Given the description of an element on the screen output the (x, y) to click on. 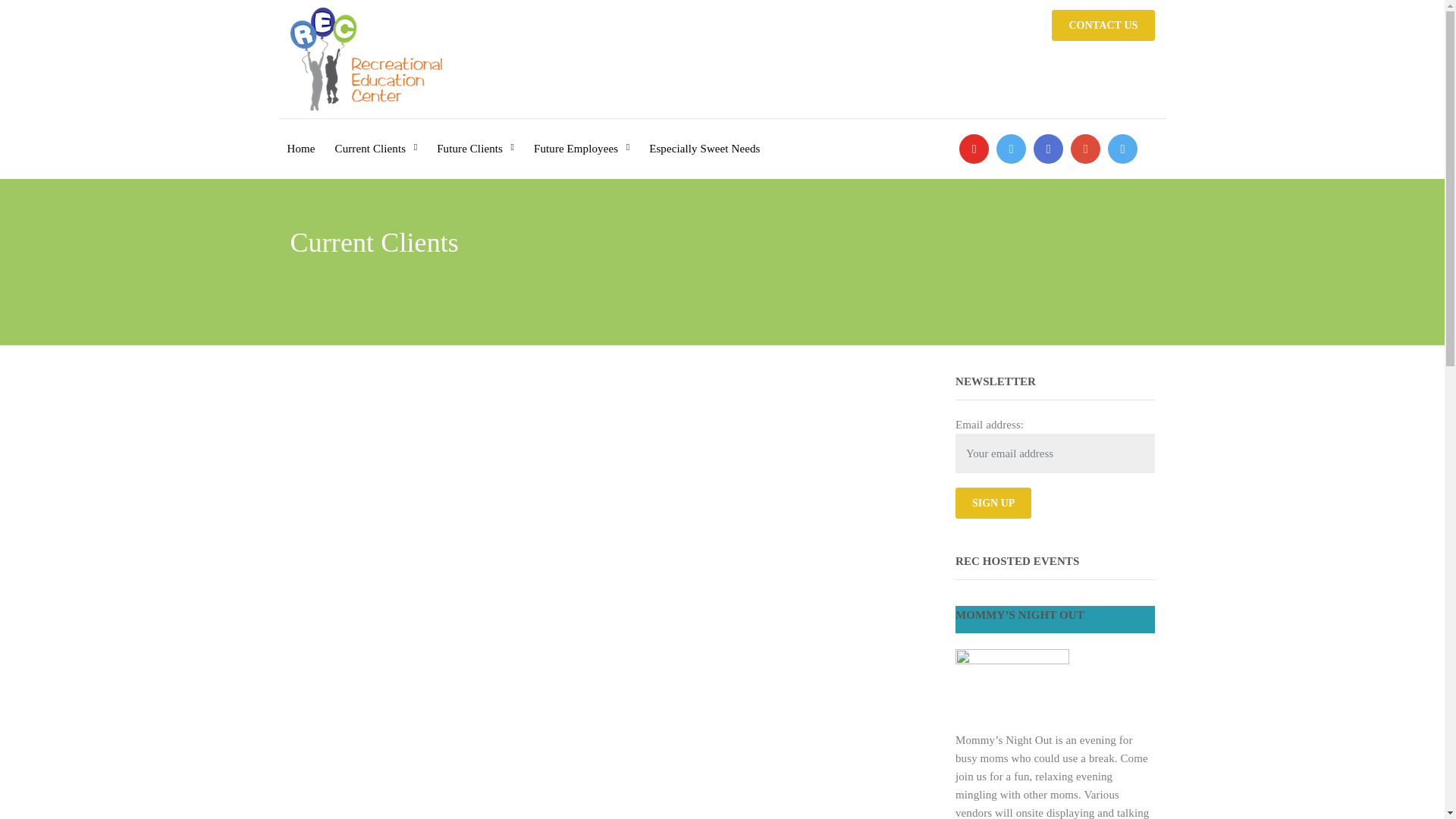
CONTACT US (1102, 24)
Future Employees (581, 138)
Sign up (992, 502)
Especially Sweet Needs (704, 138)
Current Clients (375, 138)
Sign up (992, 502)
Future Clients (474, 138)
